Given the description of an element on the screen output the (x, y) to click on. 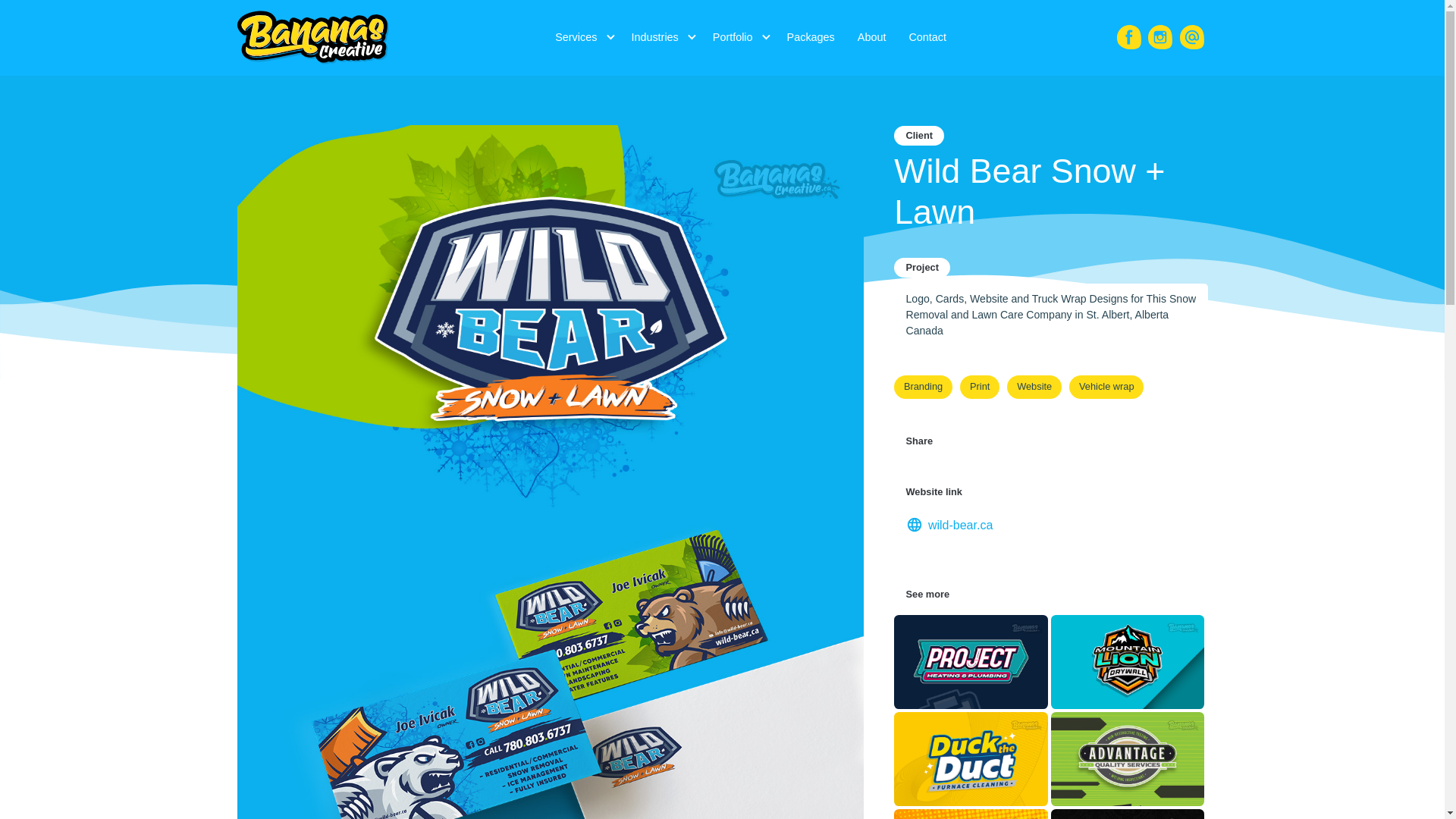
alternate_email Element type: text (1191, 37)
Packages Element type: text (810, 37)
Contact Element type: text (927, 37)
language
wild-bear.ca Element type: text (949, 524)
About Element type: text (871, 37)
